Given the description of an element on the screen output the (x, y) to click on. 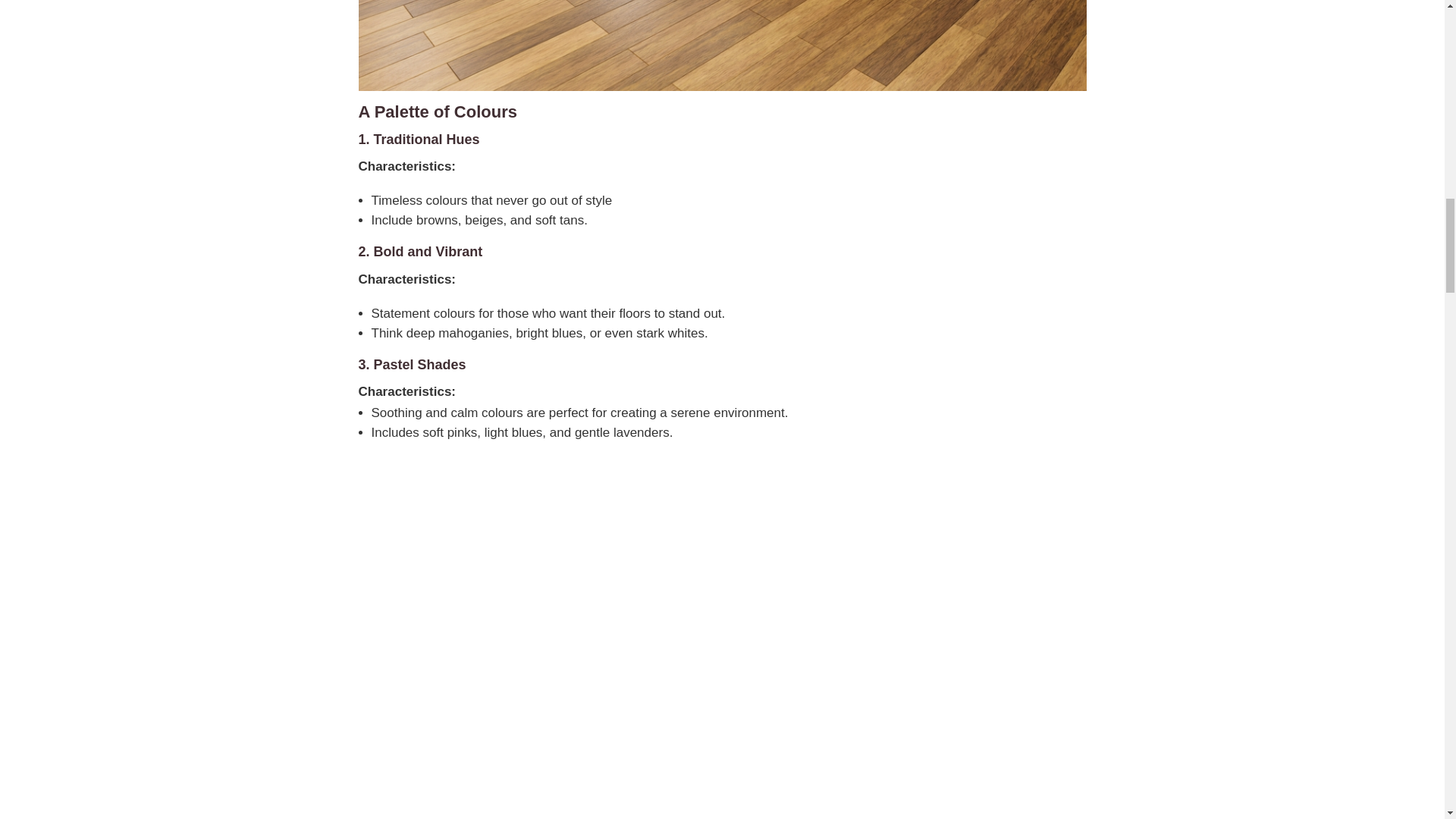
Stylish,Living,Room,With,Wood,Flooring,And,Modern,Interior (722, 45)
